Given the description of an element on the screen output the (x, y) to click on. 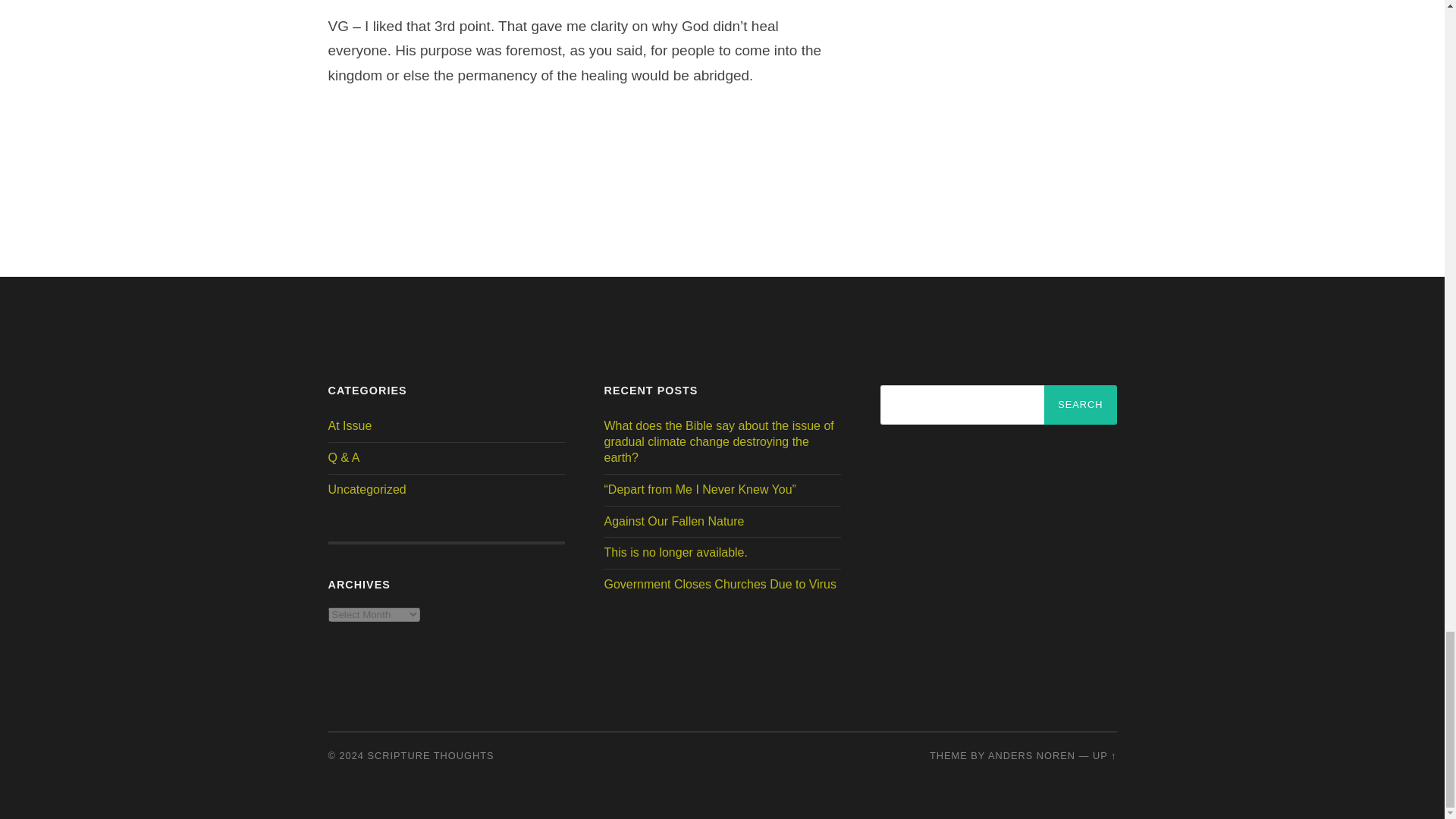
Search (1079, 404)
To the top (1104, 755)
